Given the description of an element on the screen output the (x, y) to click on. 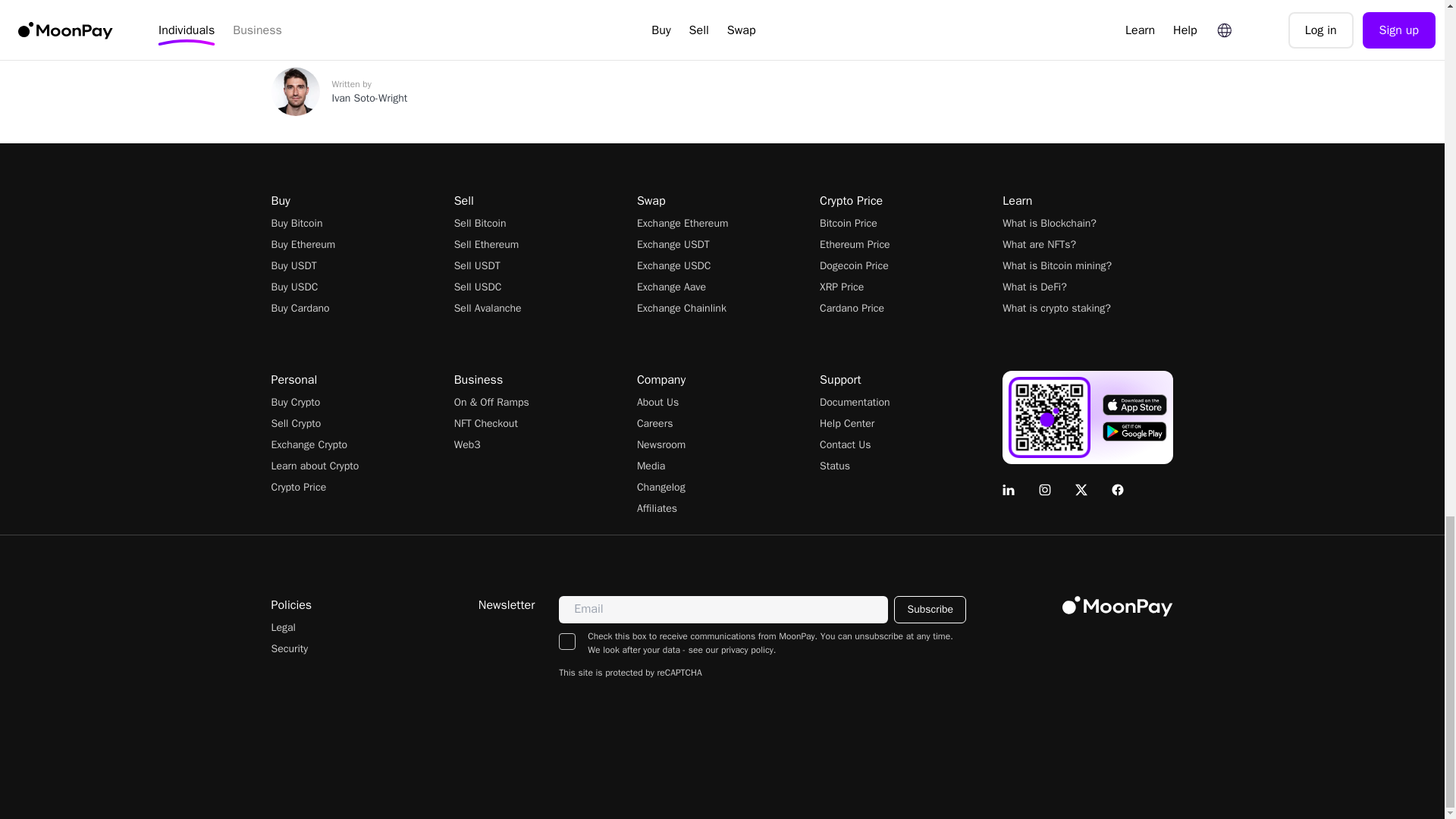
Sell Avalanche (539, 308)
Sell USDT (539, 265)
Sell Ethereum (539, 244)
Get Link (316, 18)
Tweet (414, 18)
Sell USDC (539, 287)
Buy USDT (356, 265)
Buy USDC (356, 287)
Buy Bitcoin (356, 223)
false (567, 641)
Buy Ethereum (356, 244)
Sell Bitcoin (539, 223)
Email (608, 18)
Facebook (513, 18)
Buy Cardano (356, 308)
